Given the description of an element on the screen output the (x, y) to click on. 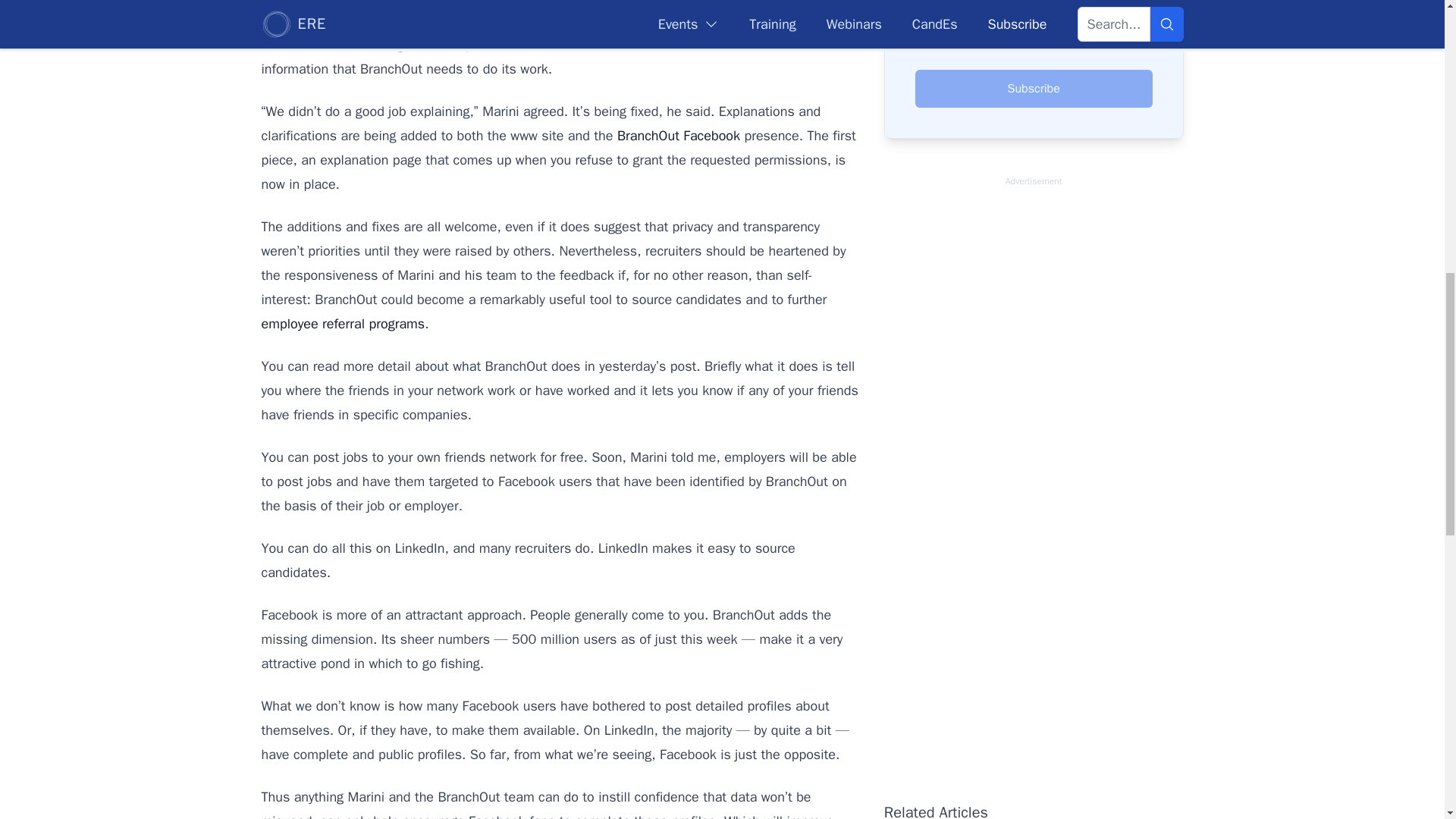
employee referral programs (342, 323)
BranchOut Facebook (678, 135)
